Given the description of an element on the screen output the (x, y) to click on. 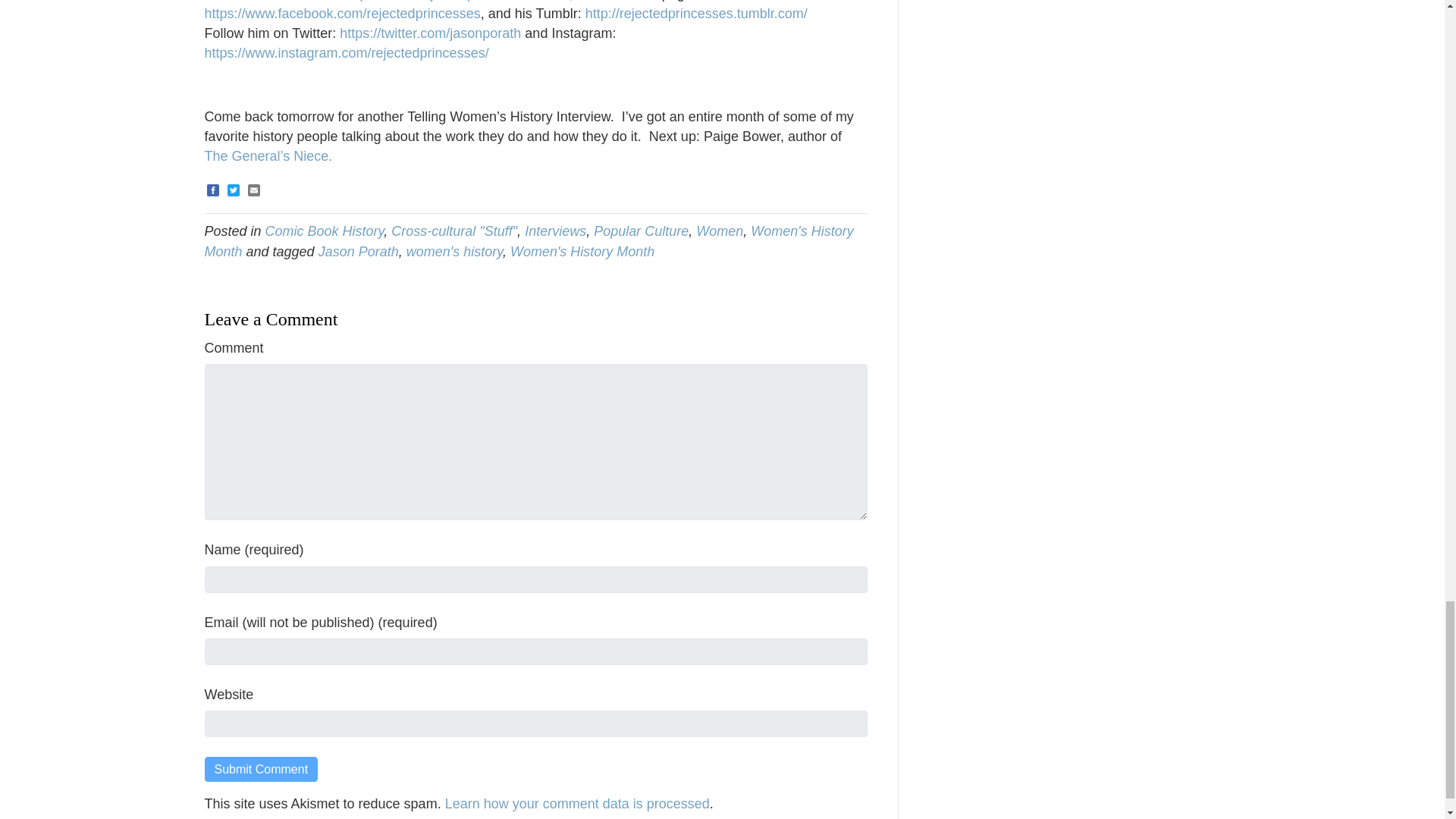
Popular Culture (641, 231)
women's history (454, 251)
Submit Comment (261, 769)
Jason Porath (358, 251)
Interviews (555, 231)
Women (718, 231)
Cross-cultural "Stuff" (453, 231)
Learn how your comment data is processed (577, 803)
Comic Book History (324, 231)
Women's History Month (529, 240)
